Given the description of an element on the screen output the (x, y) to click on. 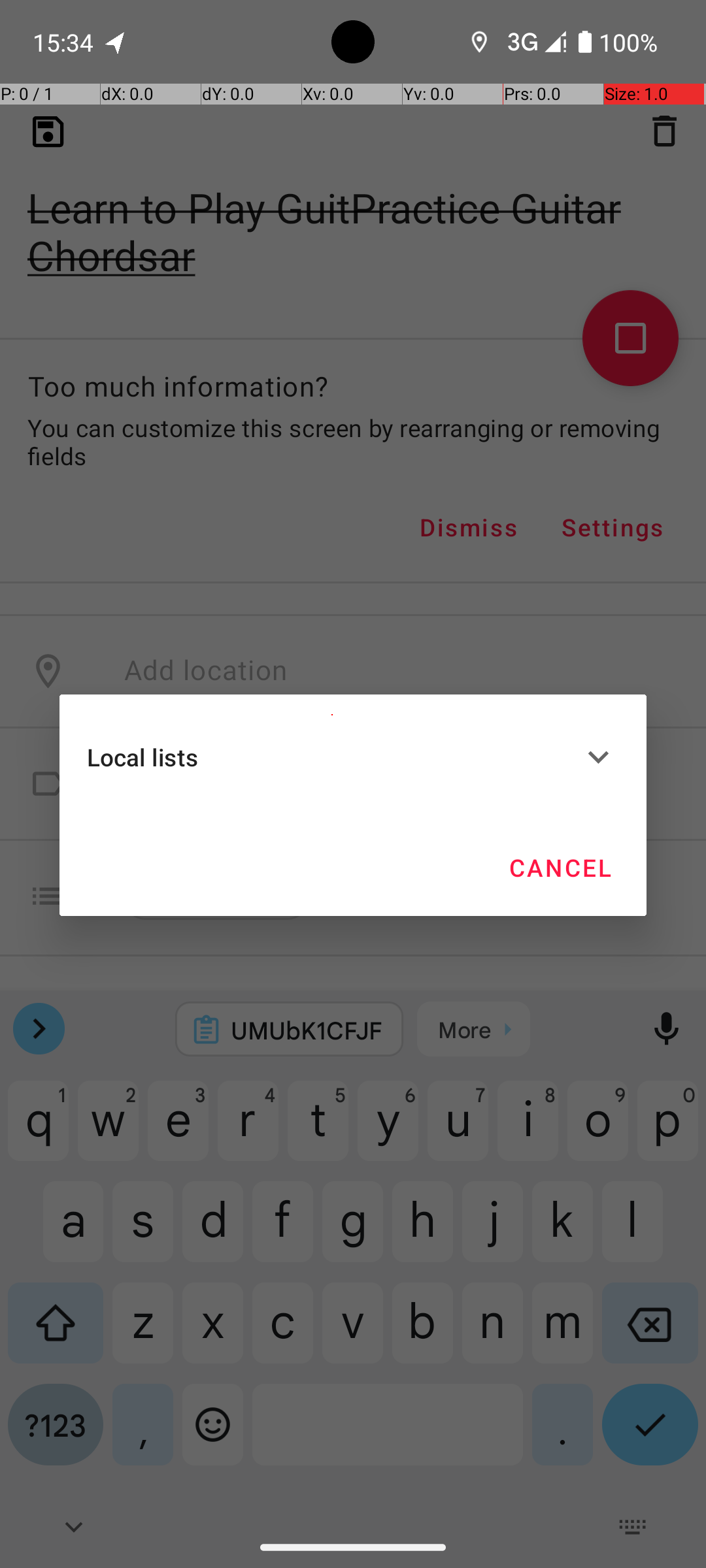
Local lists Element type: android.widget.TextView (331, 756)
